Given the description of an element on the screen output the (x, y) to click on. 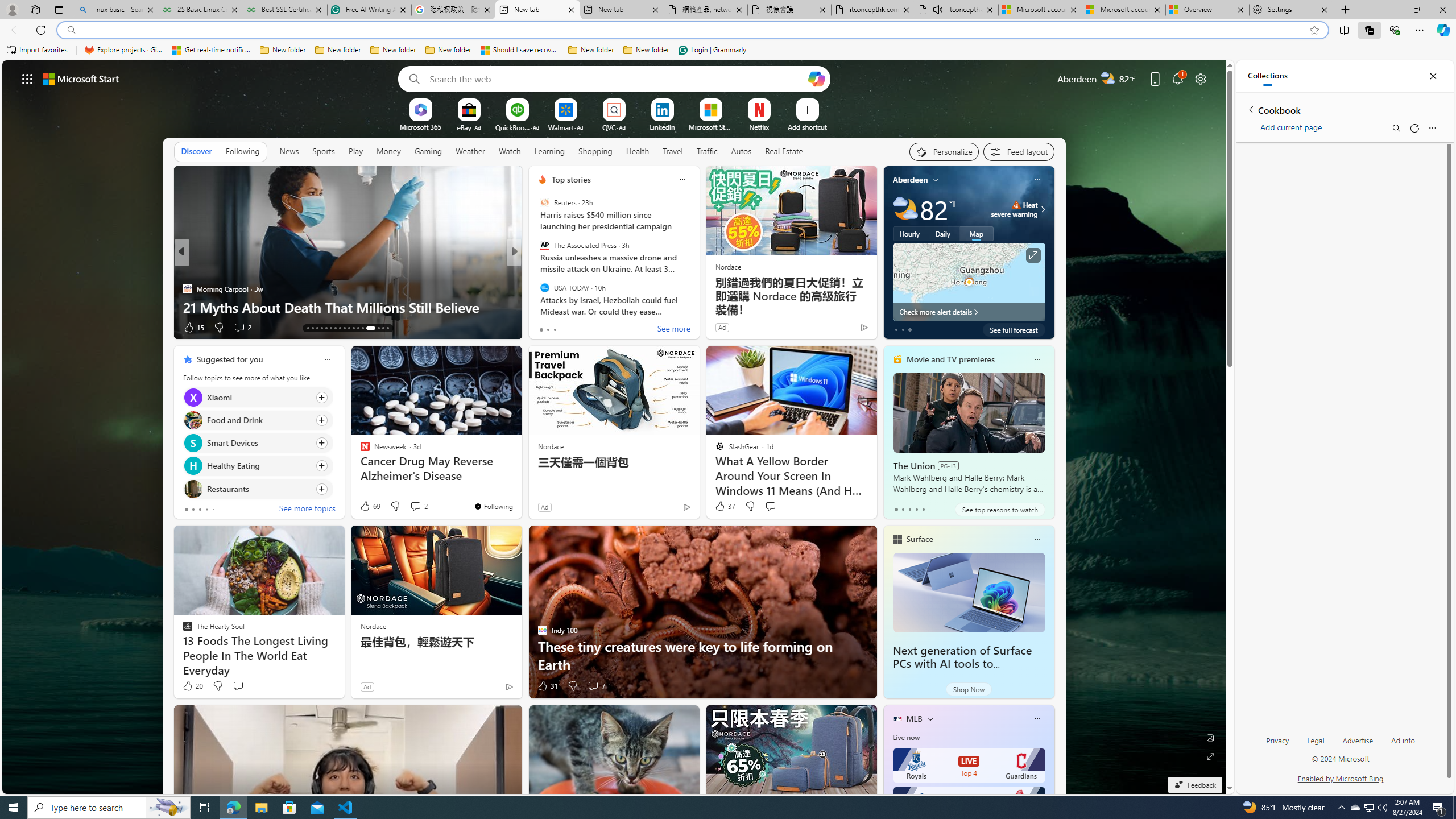
AutomationID: tab-29 (387, 328)
Class: weather-arrow-glyph (1043, 208)
itconcepthk.com/projector_solutions.mp4 (873, 9)
Food and Drink (192, 419)
AutomationID: tab-22 (348, 328)
Traffic (706, 151)
Login | Grammarly (712, 49)
AutomationID: tab-15 (317, 328)
tab-2 (908, 509)
Back to list of collections (1250, 109)
Legal (1315, 745)
AutomationID: backgroundImagePicture (613, 426)
